Given the description of an element on the screen output the (x, y) to click on. 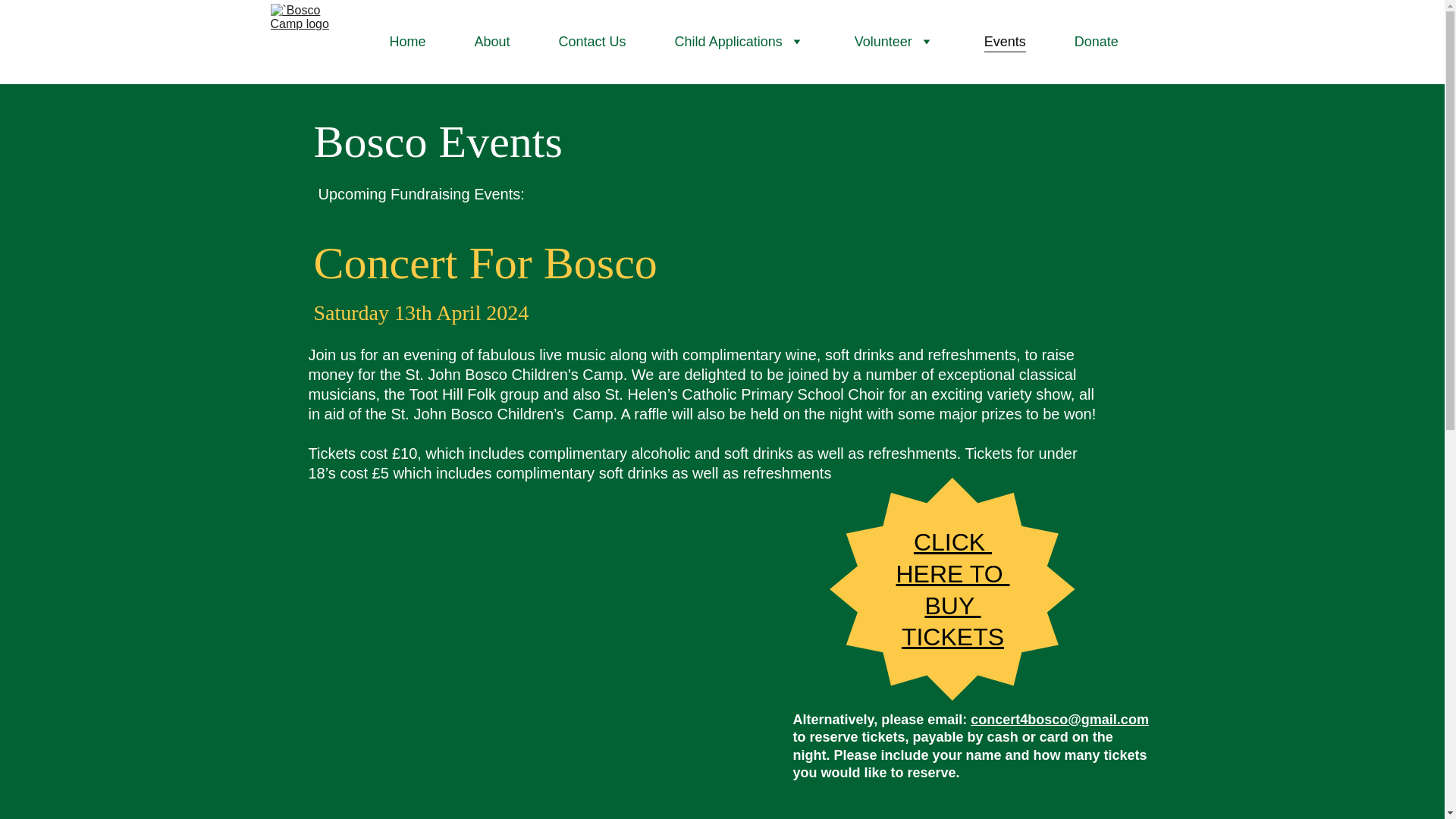
Home (408, 41)
Contact Us (592, 41)
Events (1005, 41)
CLICK HERE TO BUY TICKETS (953, 589)
About (492, 41)
Donate (1096, 41)
